Given the description of an element on the screen output the (x, y) to click on. 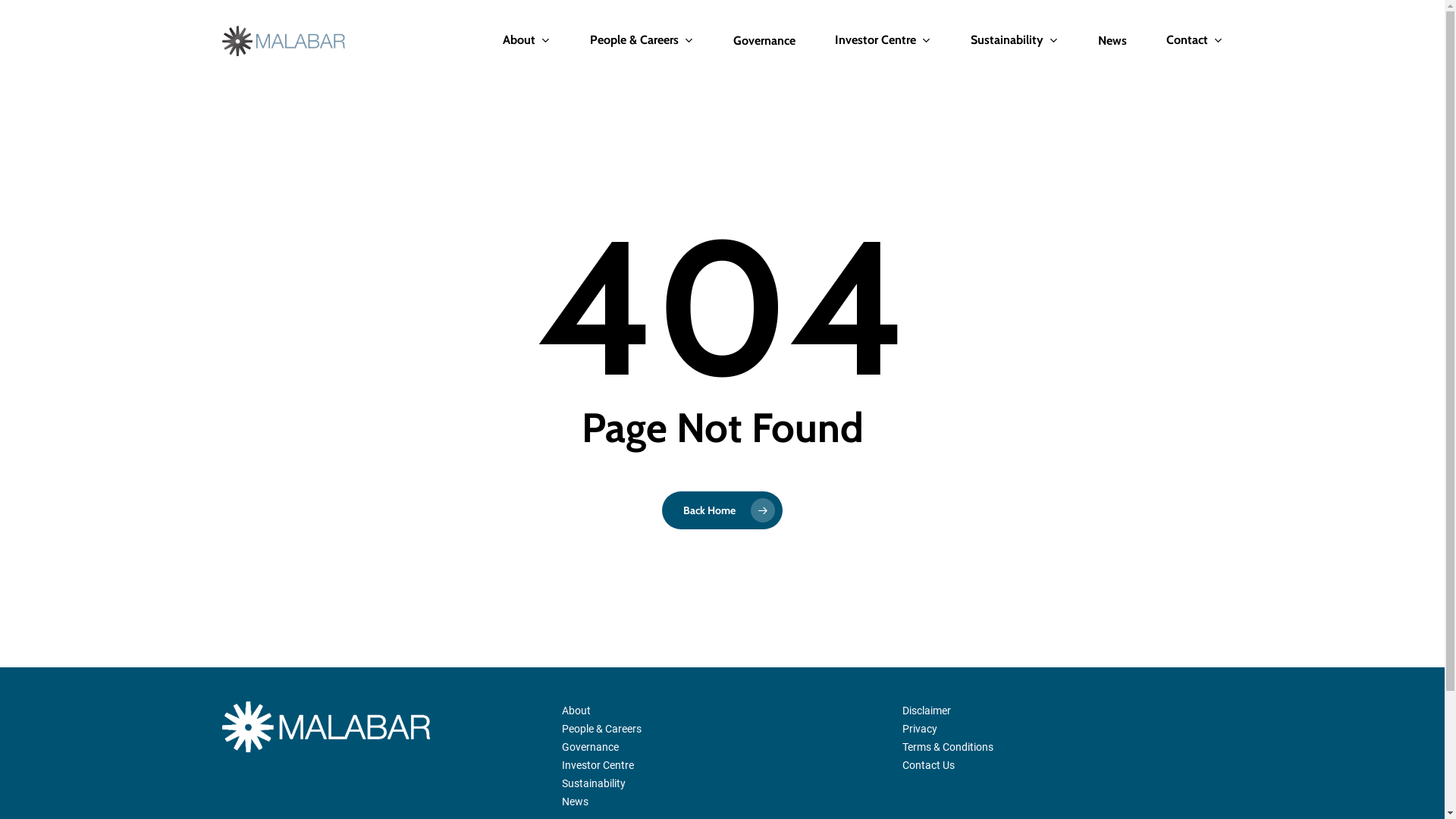
Privacy Element type: text (919, 728)
Disclaimer Element type: text (926, 710)
About Element type: text (575, 710)
Governance Element type: text (763, 40)
Investor Centre Element type: text (597, 765)
Terms & Conditions Element type: text (947, 746)
Sustainability Element type: text (1014, 40)
People & Careers Element type: text (601, 728)
News Element type: text (1112, 40)
Investor Centre Element type: text (882, 40)
News Element type: text (574, 801)
People & Careers Element type: text (641, 40)
Contact Element type: text (1194, 40)
Sustainability Element type: text (593, 783)
Contact Us Element type: text (928, 765)
About Element type: text (525, 40)
Governance Element type: text (589, 746)
Back Home Element type: text (722, 510)
